Given the description of an element on the screen output the (x, y) to click on. 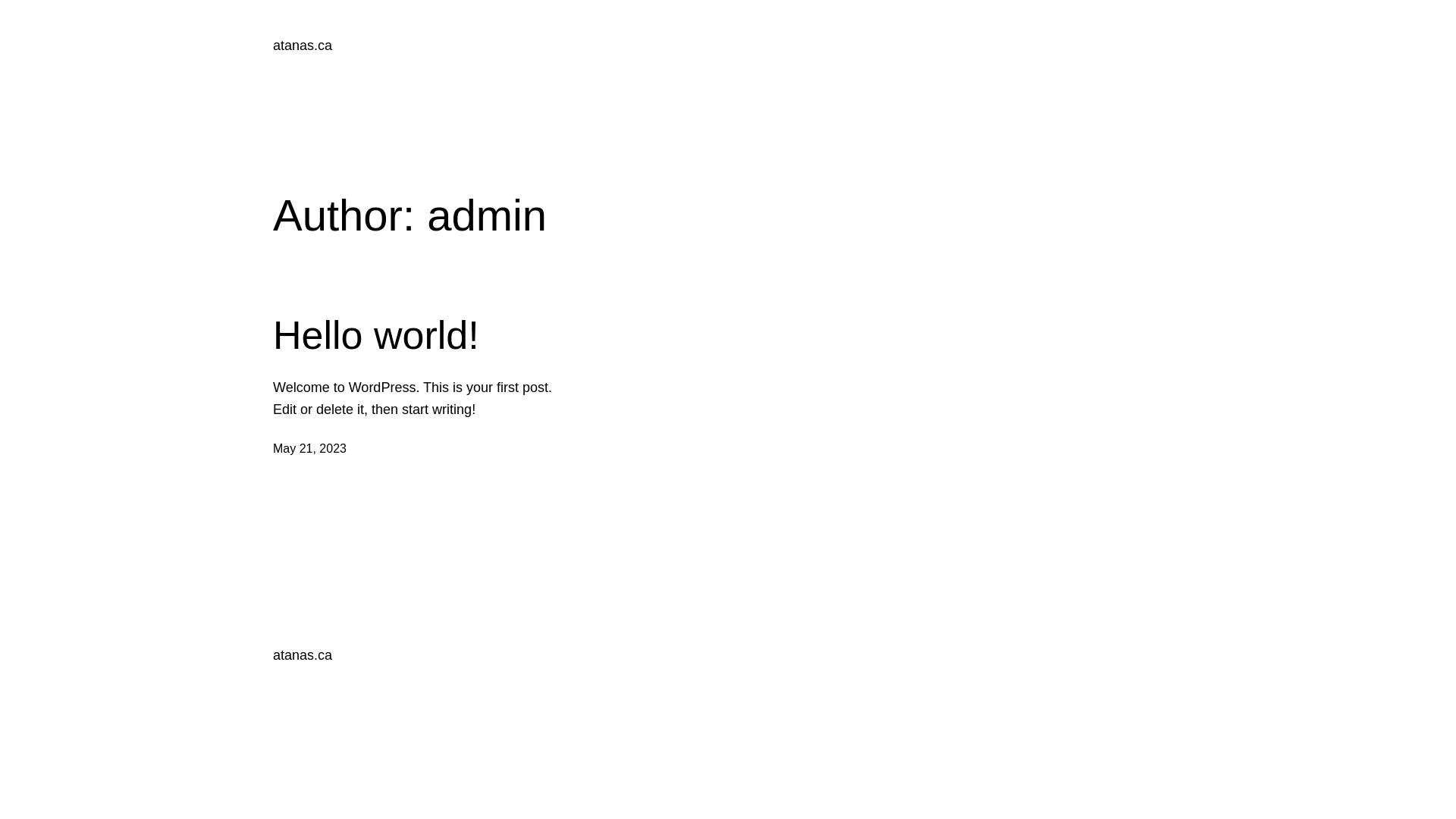
May 21, 2023 Element type: text (309, 448)
atanas.ca Element type: text (302, 654)
atanas.ca Element type: text (302, 45)
Hello world! Element type: text (376, 334)
